Given the description of an element on the screen output the (x, y) to click on. 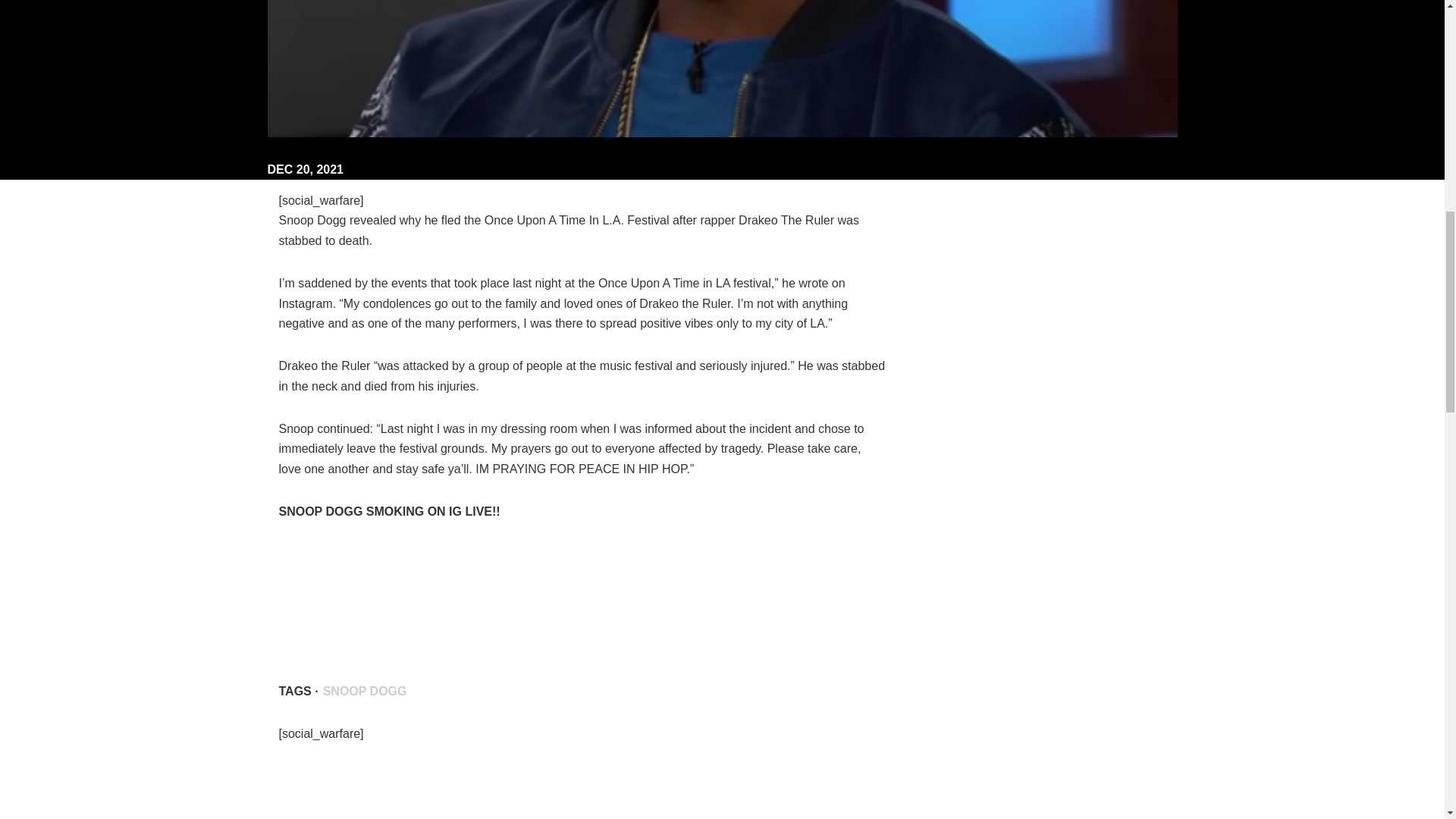
SNOOP DOGG (364, 690)
